Given the description of an element on the screen output the (x, y) to click on. 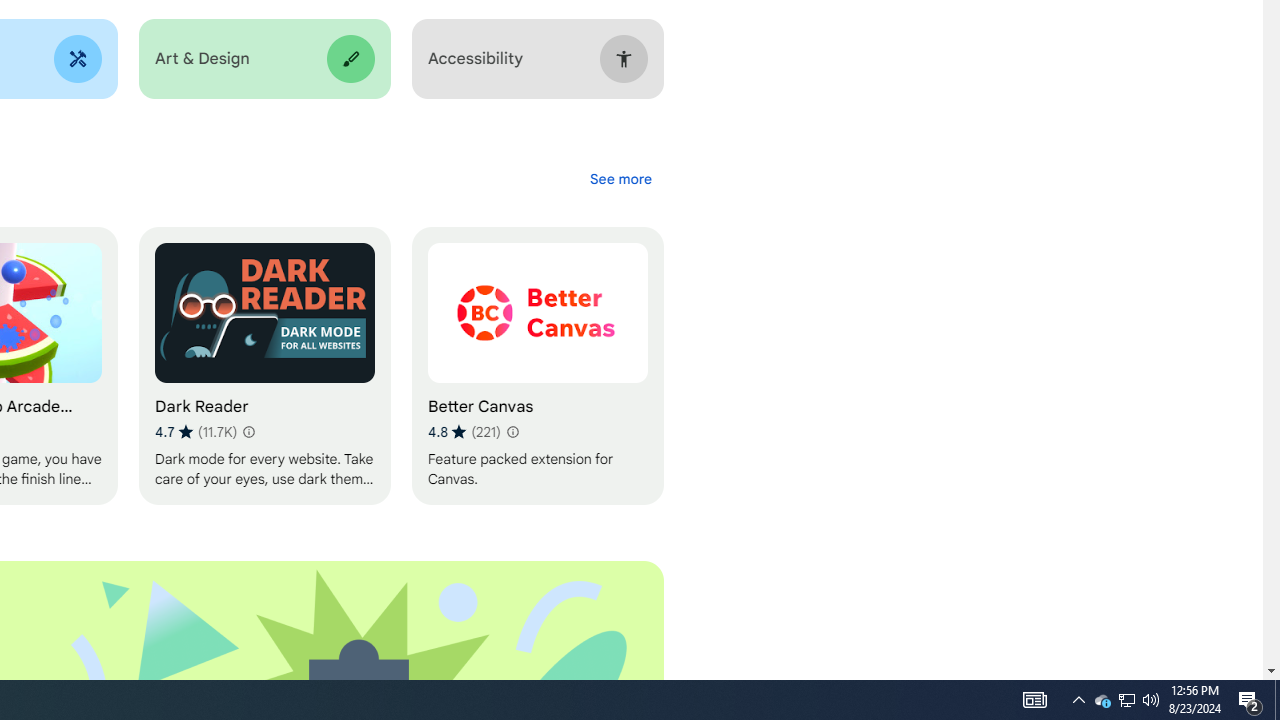
Art & Design (264, 59)
Average rating 4.8 out of 5 stars. 221 ratings. (463, 431)
Dark Reader (264, 366)
Accessibility (537, 59)
See more personalized recommendations (620, 178)
Better Canvas (537, 366)
Average rating 4.7 out of 5 stars. 11.7K ratings. (195, 431)
Learn more about results and reviews "Dark Reader" (247, 431)
Learn more about results and reviews "Better Canvas" (511, 431)
